Given the description of an element on the screen output the (x, y) to click on. 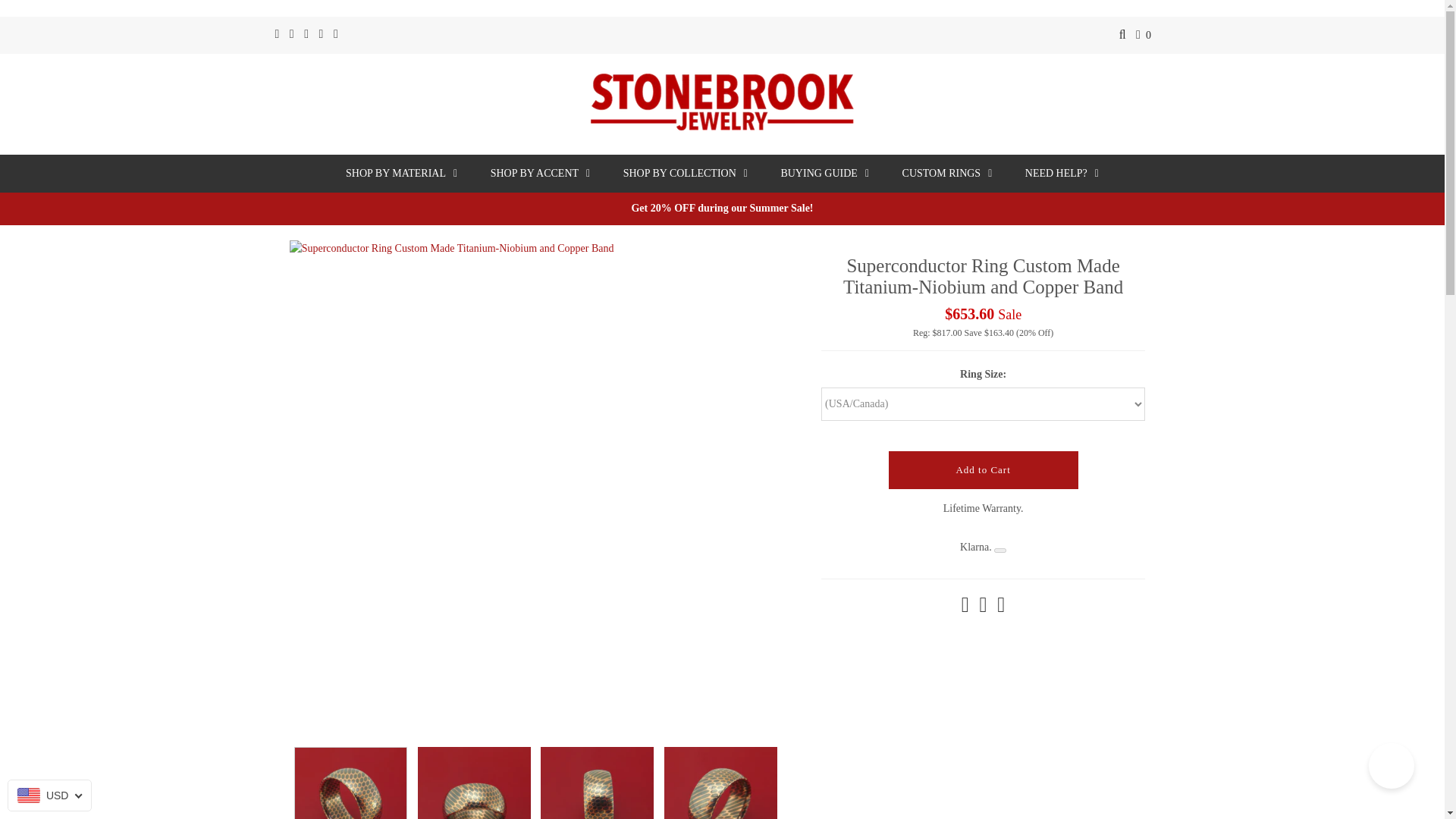
SHOP BY ACCENT (540, 173)
  0 (1143, 34)
Add to Cart (983, 469)
SHOP BY MATERIAL (400, 173)
